Given the description of an element on the screen output the (x, y) to click on. 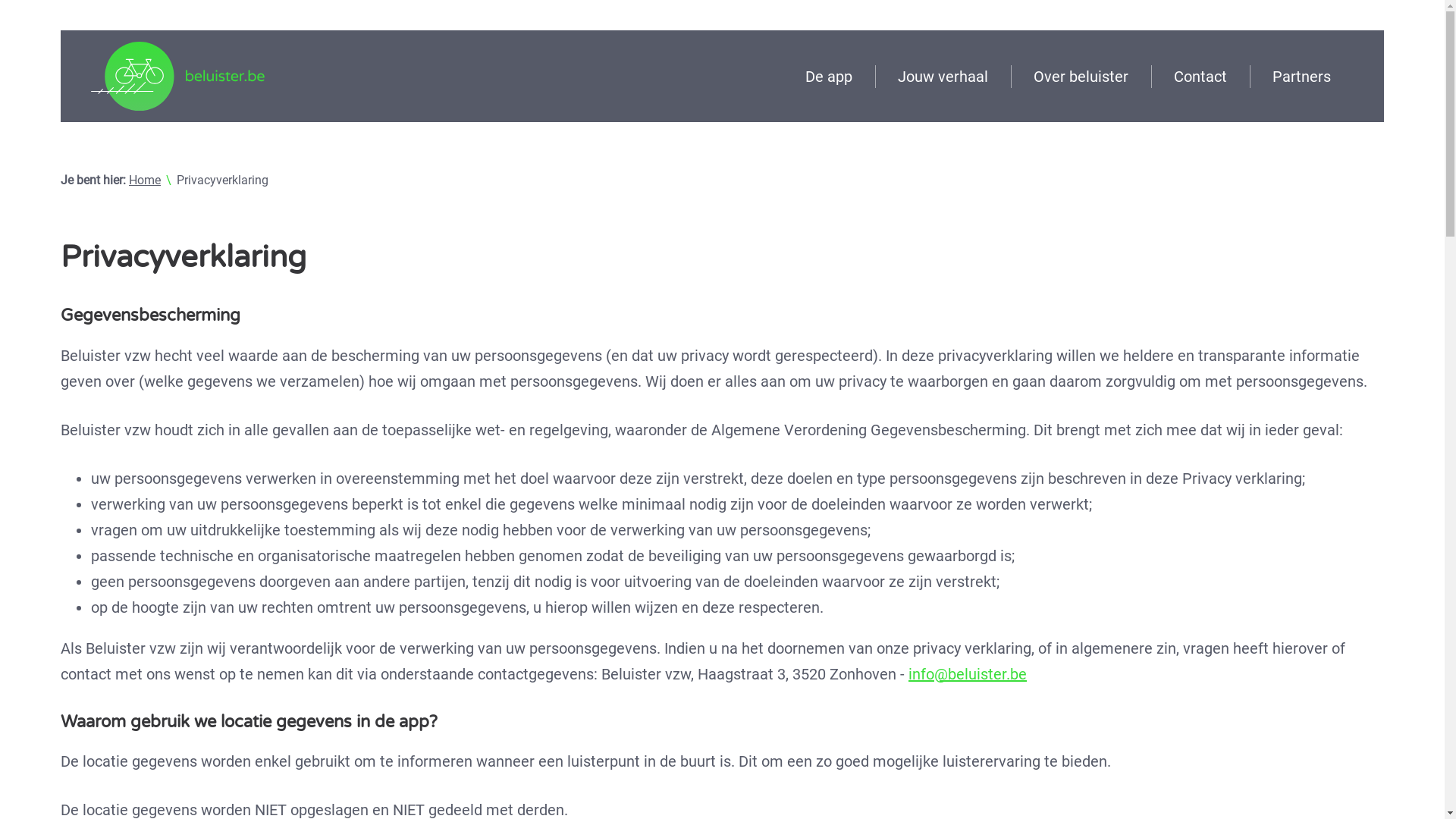
De app Element type: text (828, 76)
Contact Element type: text (1200, 76)
Jouw verhaal Element type: text (942, 76)
Partners Element type: text (1301, 76)
Home Element type: text (144, 179)
Ga naar de hoofdinhoud Element type: text (59, 29)
Over beluister Element type: text (1080, 76)
info@beluister.be Element type: text (967, 674)
